Given the description of an element on the screen output the (x, y) to click on. 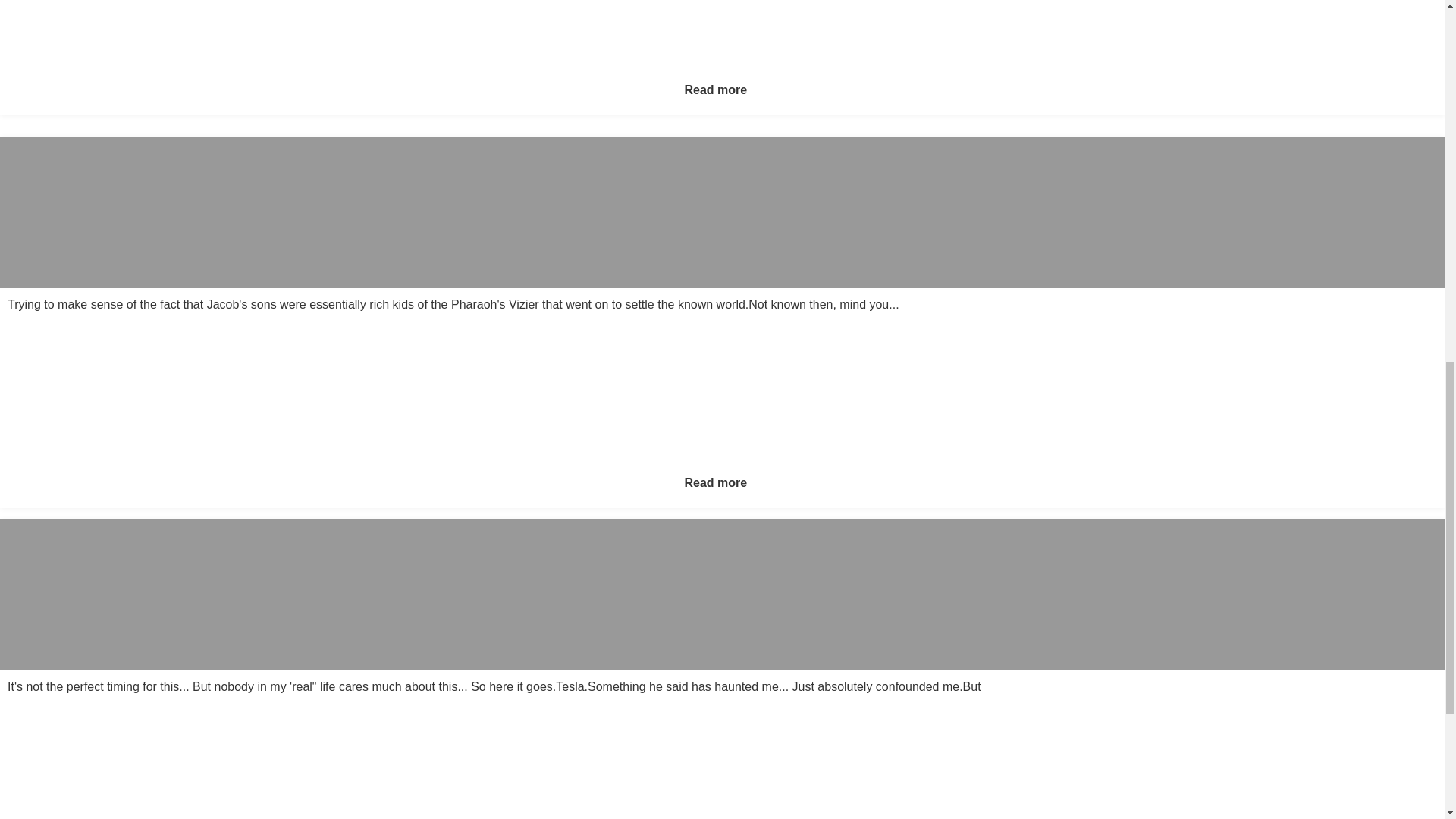
Read more (715, 89)
Read more (715, 481)
